Given the description of an element on the screen output the (x, y) to click on. 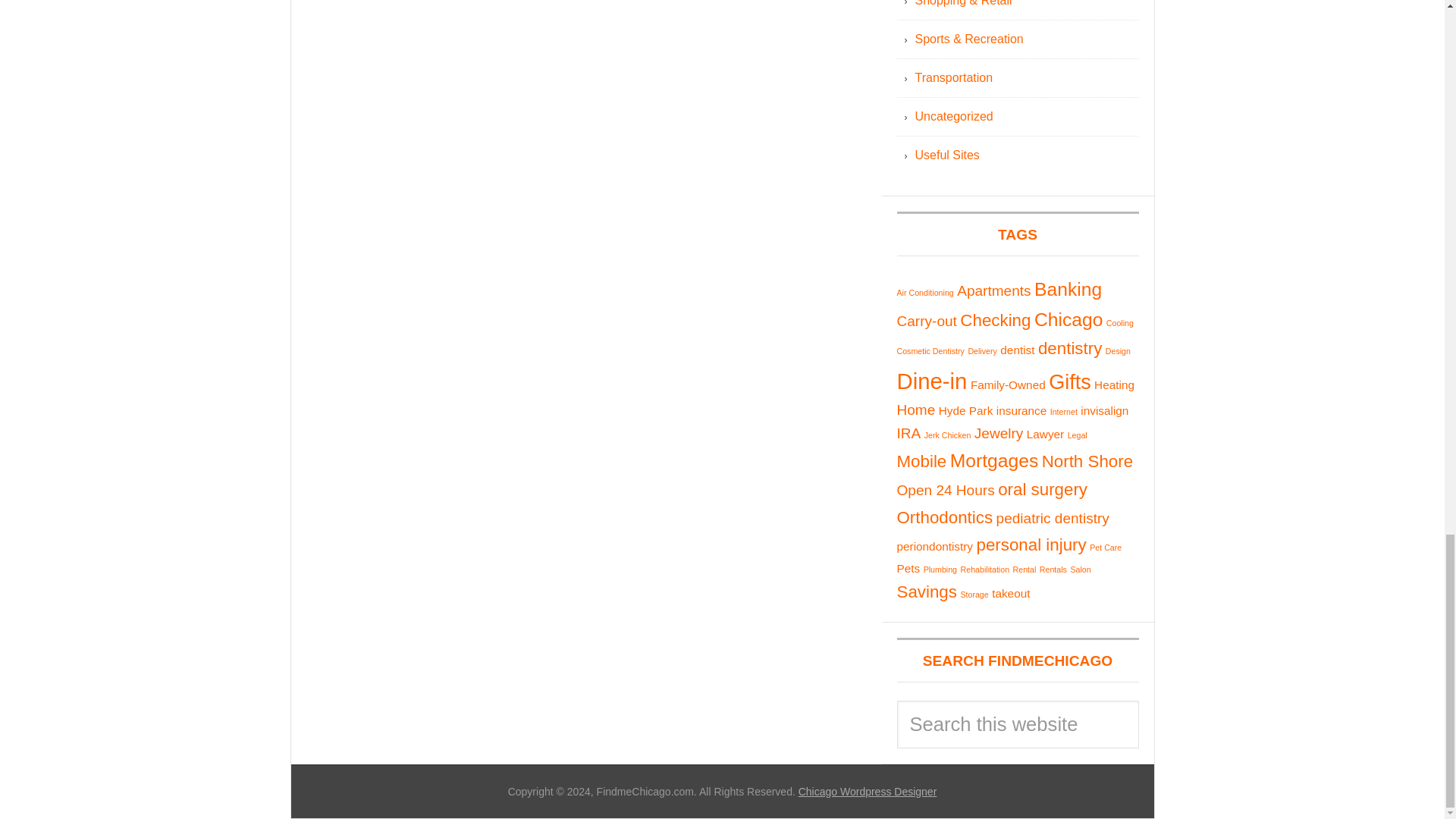
Apartments (993, 290)
Uncategorized (953, 115)
Air Conditioning (924, 292)
Checking (994, 320)
Carry-out (926, 320)
Useful Sites (946, 154)
Transportation (953, 77)
Banking (1067, 289)
